Given the description of an element on the screen output the (x, y) to click on. 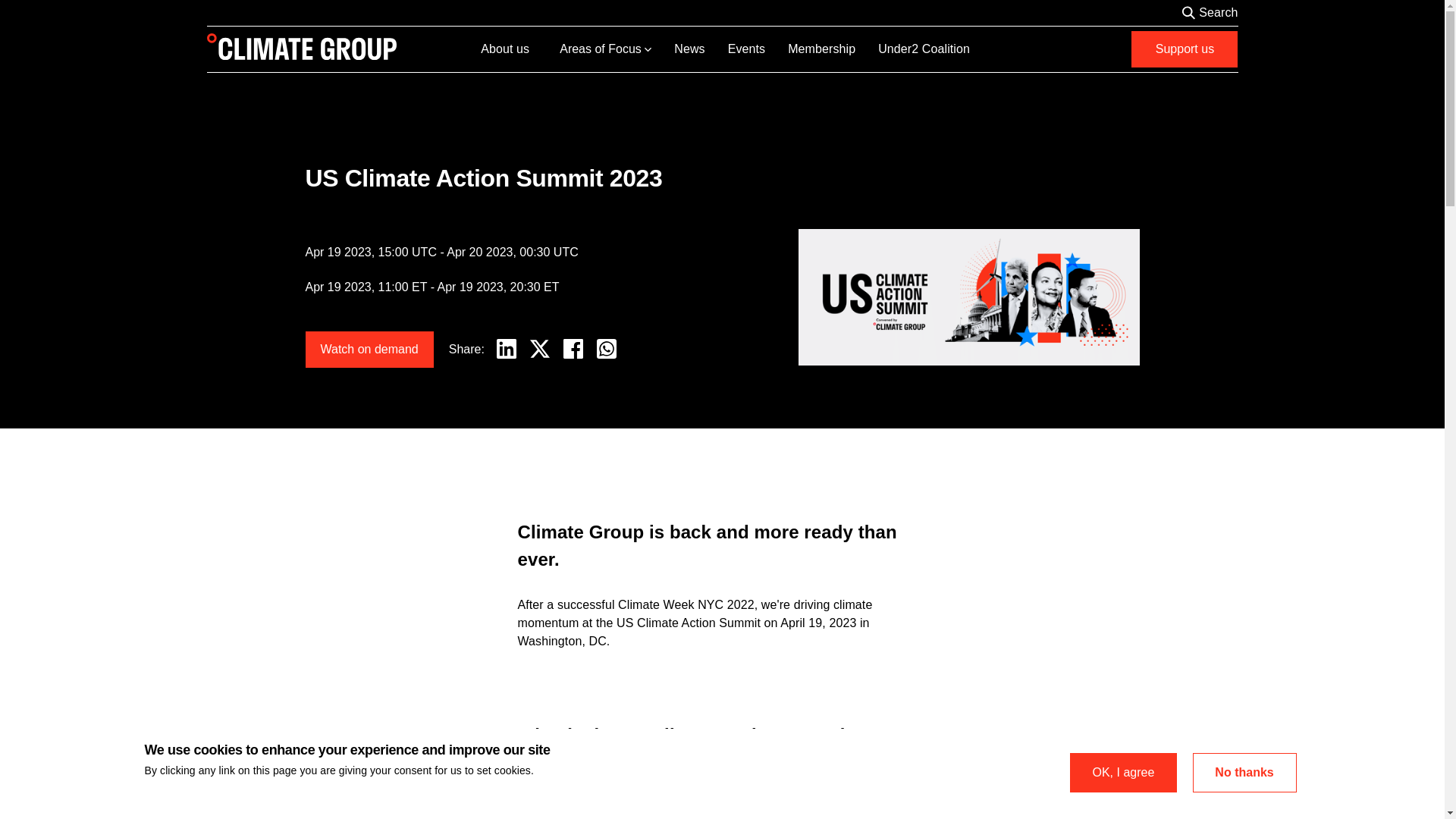
OK, I agree (1123, 772)
Under2 Coalition (934, 49)
Support us (1184, 49)
Watch on demand (368, 349)
About us (515, 49)
No thanks (1244, 772)
Watch on demand (368, 349)
More info (558, 770)
Search (1217, 13)
